Given the description of an element on the screen output the (x, y) to click on. 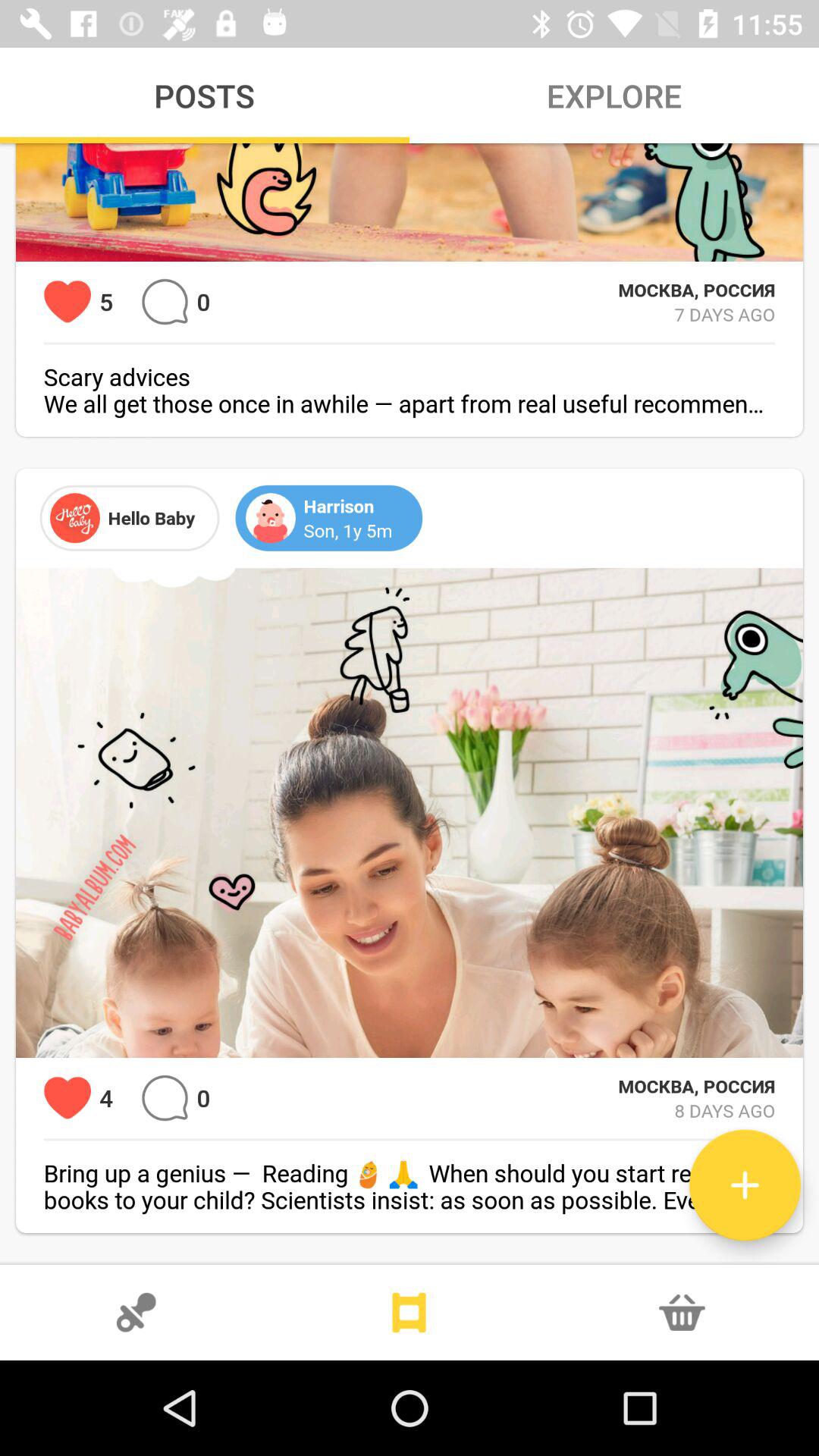
comment (164, 301)
